Given the description of an element on the screen output the (x, y) to click on. 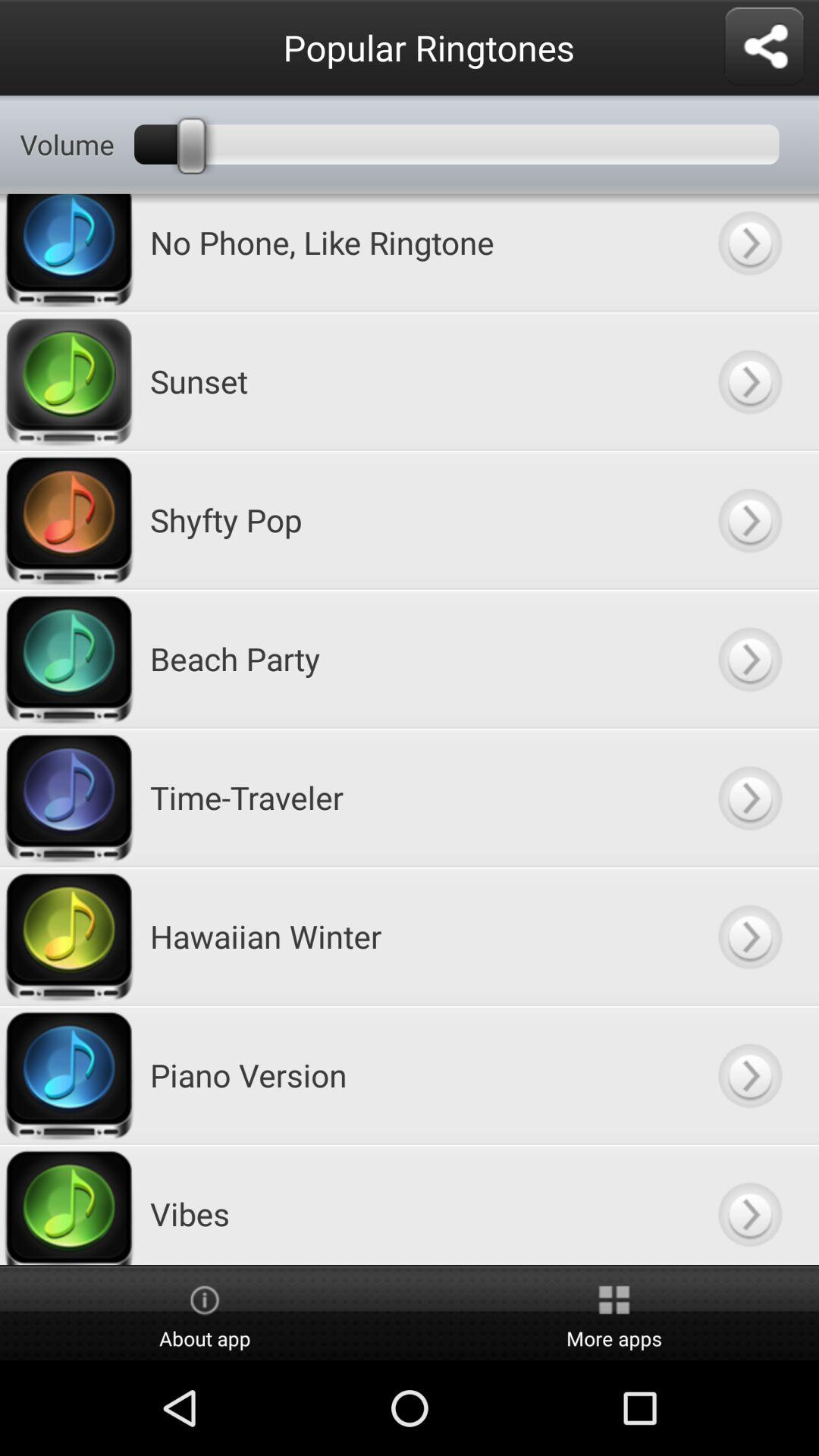
play audio (749, 520)
